Given the description of an element on the screen output the (x, y) to click on. 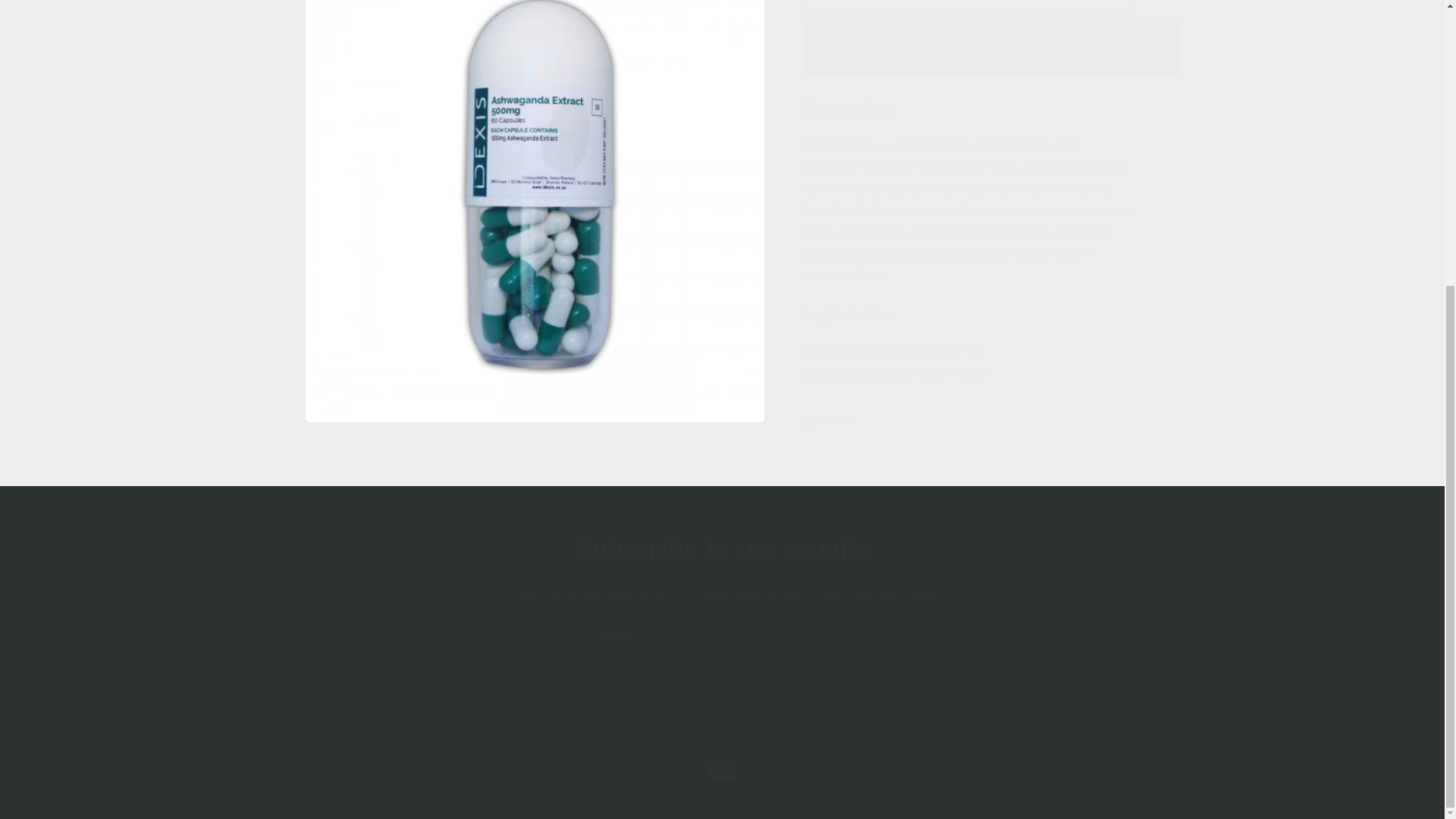
Open media 1 in modal (533, 79)
Email (722, 637)
Subscribe to our emails (721, 548)
